Given the description of an element on the screen output the (x, y) to click on. 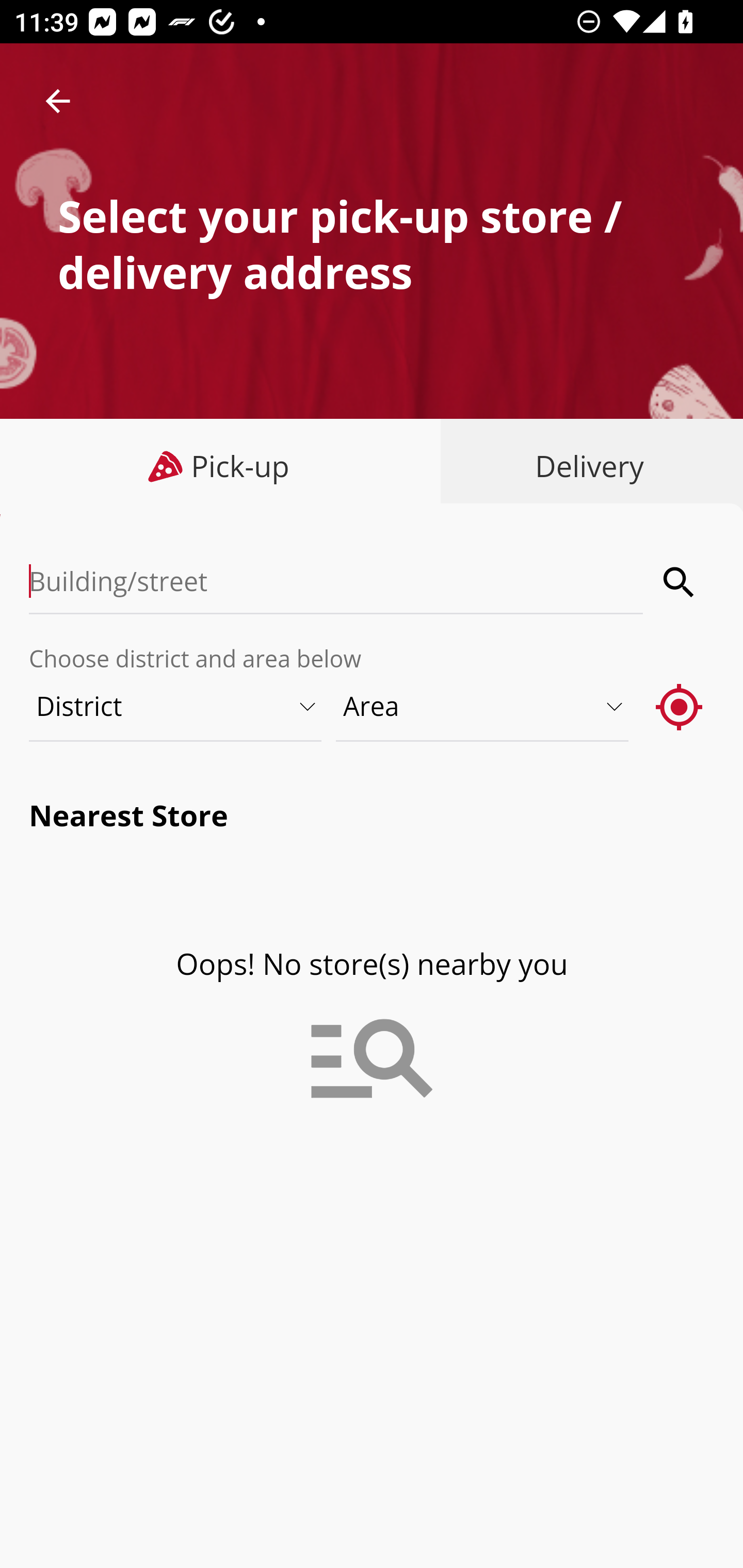
arrow_back (58, 100)
prev next Pick-up Delivery (371, 467)
Delivery (585, 466)
search (679, 582)
gps_fixed (679, 706)
District (175, 706)
Area (482, 706)
